Given the description of an element on the screen output the (x, y) to click on. 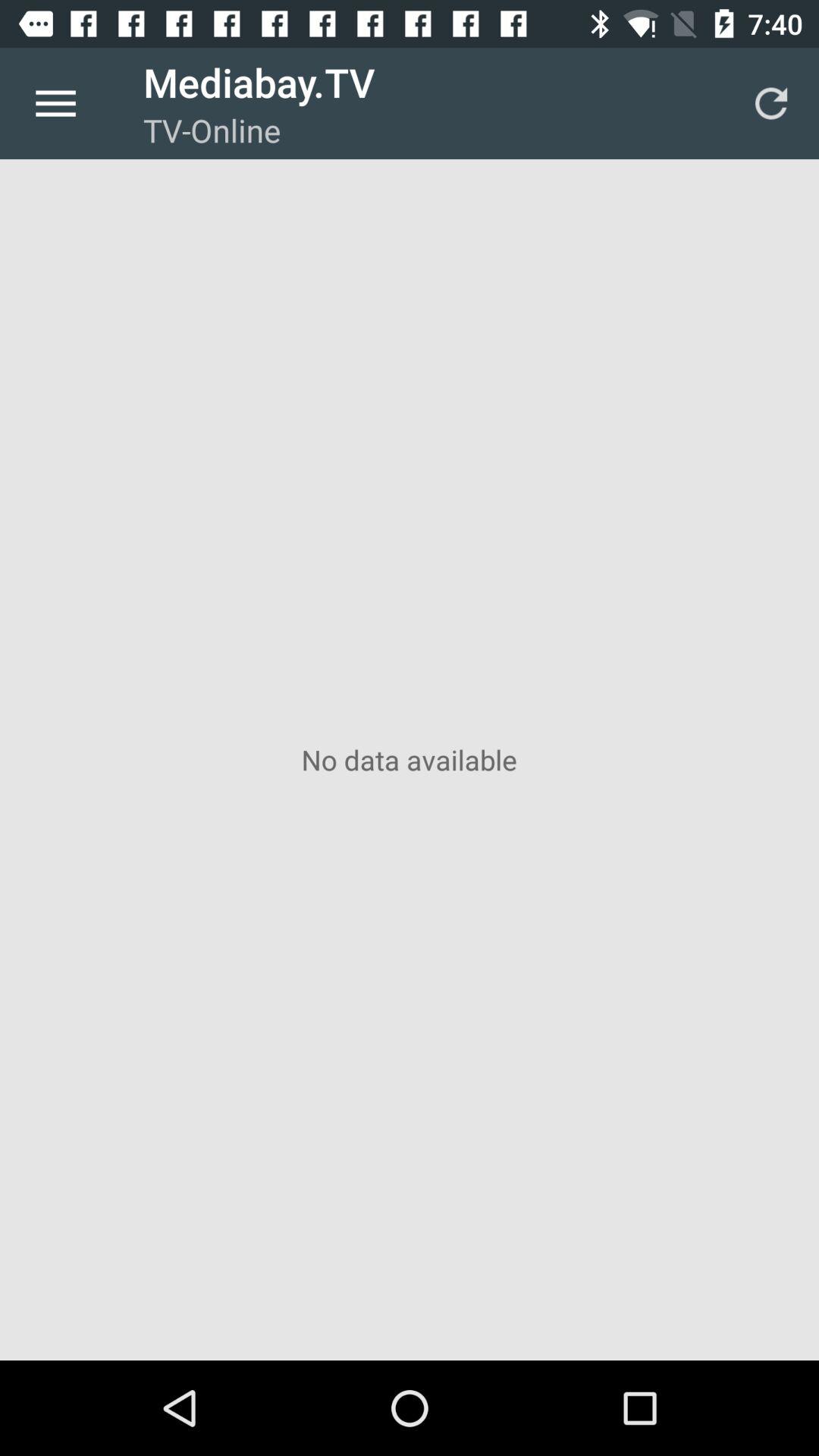
turn on the item at the top right corner (771, 103)
